Given the description of an element on the screen output the (x, y) to click on. 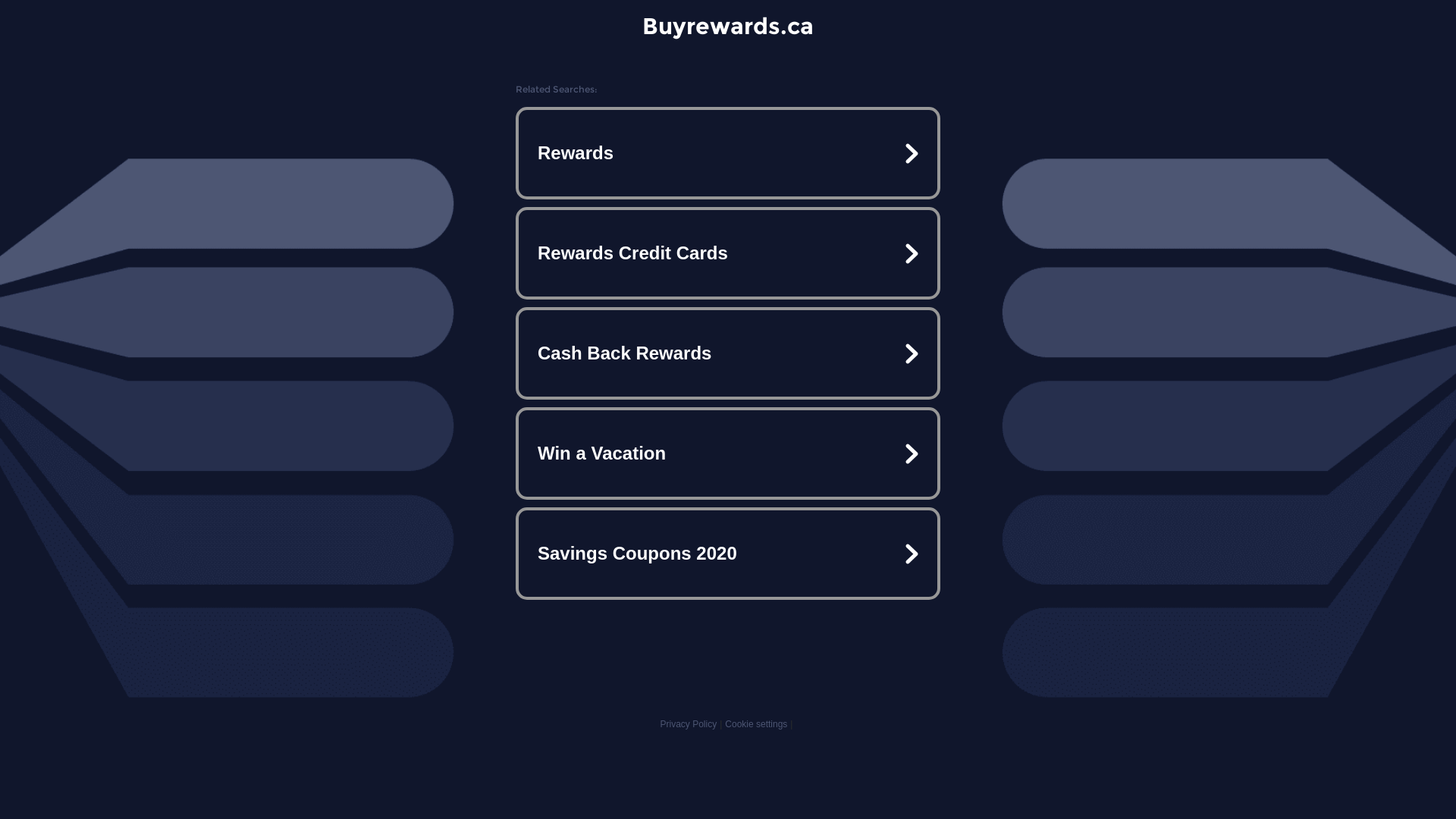
Privacy Policy Element type: text (687, 723)
Rewards Credit Cards Element type: text (727, 253)
Buyrewards.ca Element type: text (727, 26)
Win a Vacation Element type: text (727, 453)
Savings Coupons 2020 Element type: text (727, 553)
Rewards Element type: text (727, 152)
Cash Back Rewards Element type: text (727, 353)
Cookie settings Element type: text (755, 723)
